Given the description of an element on the screen output the (x, y) to click on. 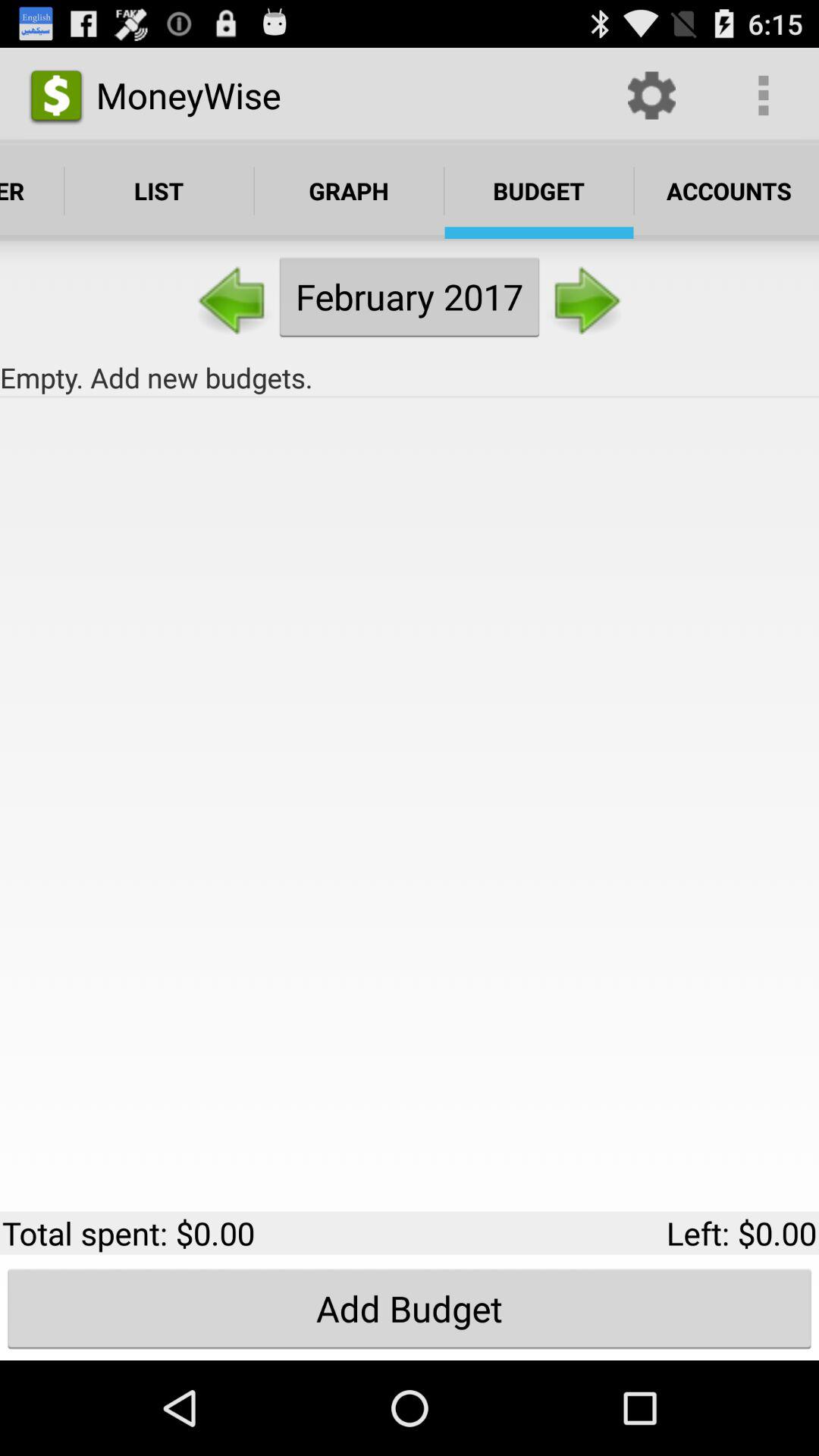
select the add budget (409, 1308)
